Given the description of an element on the screen output the (x, y) to click on. 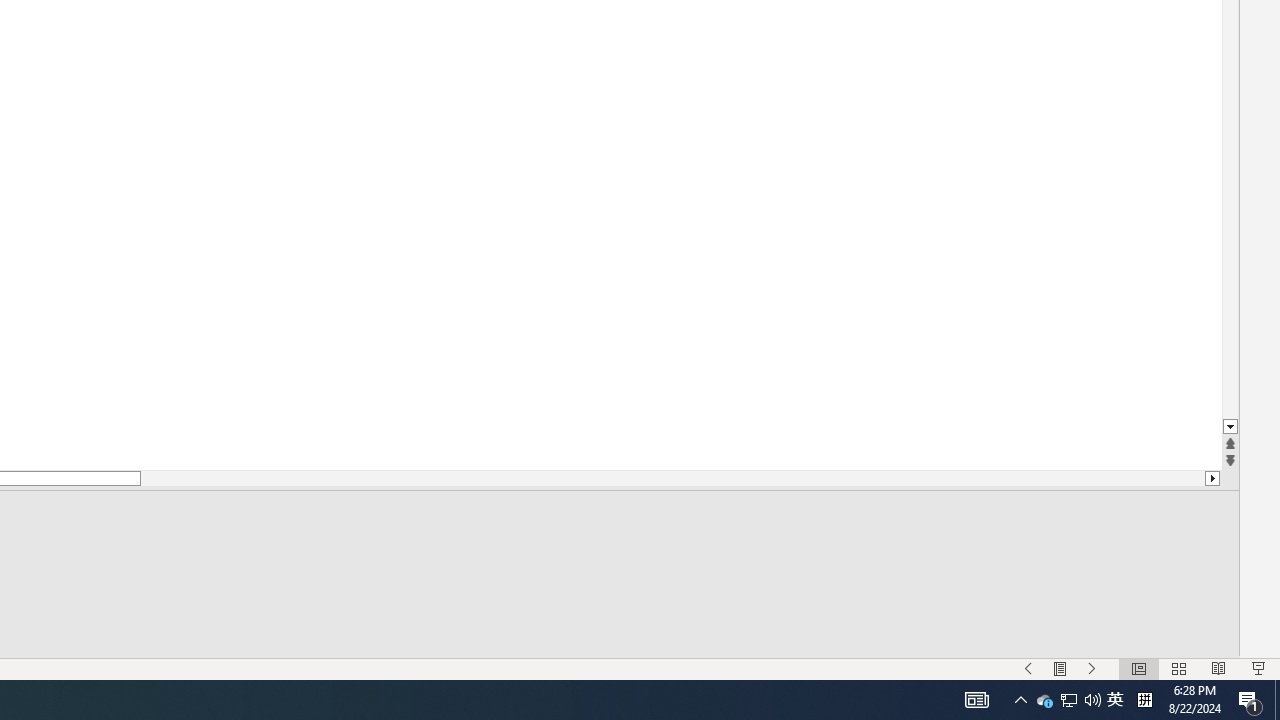
Menu On (1060, 668)
Slide Show Previous On (1028, 668)
Slide Show Next On (1092, 668)
